Given the description of an element on the screen output the (x, y) to click on. 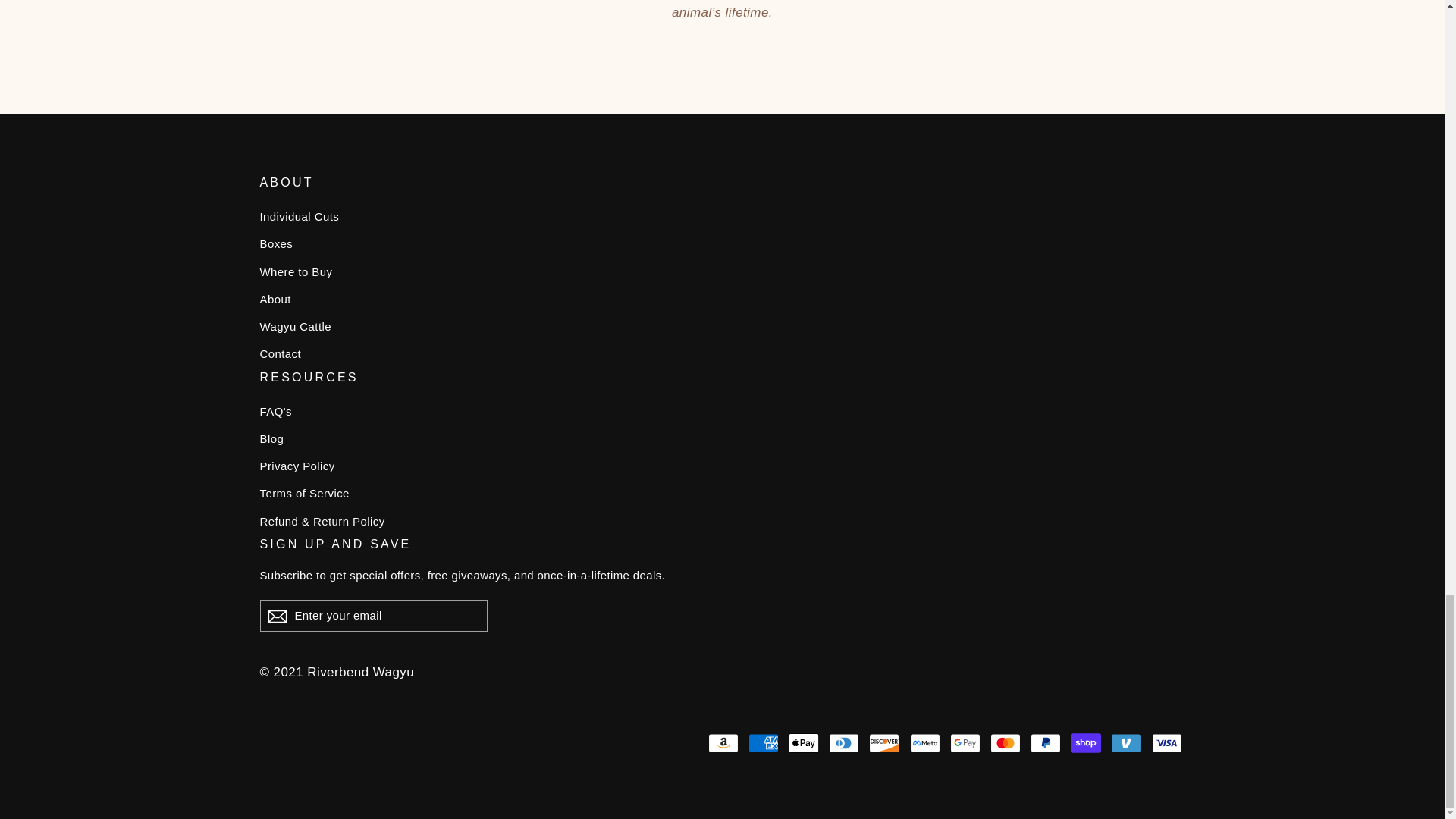
American Express (763, 743)
Boxes (722, 243)
Privacy Policy (722, 466)
Mastercard (1005, 743)
Apple Pay (803, 743)
Shop Pay (1085, 743)
About (722, 299)
Meta Pay (925, 743)
Wagyu Cattle (722, 326)
Blog (722, 438)
FAQ's (722, 411)
Discover (884, 743)
Google Pay (964, 743)
Contact (722, 354)
Terms of Service (722, 493)
